Given the description of an element on the screen output the (x, y) to click on. 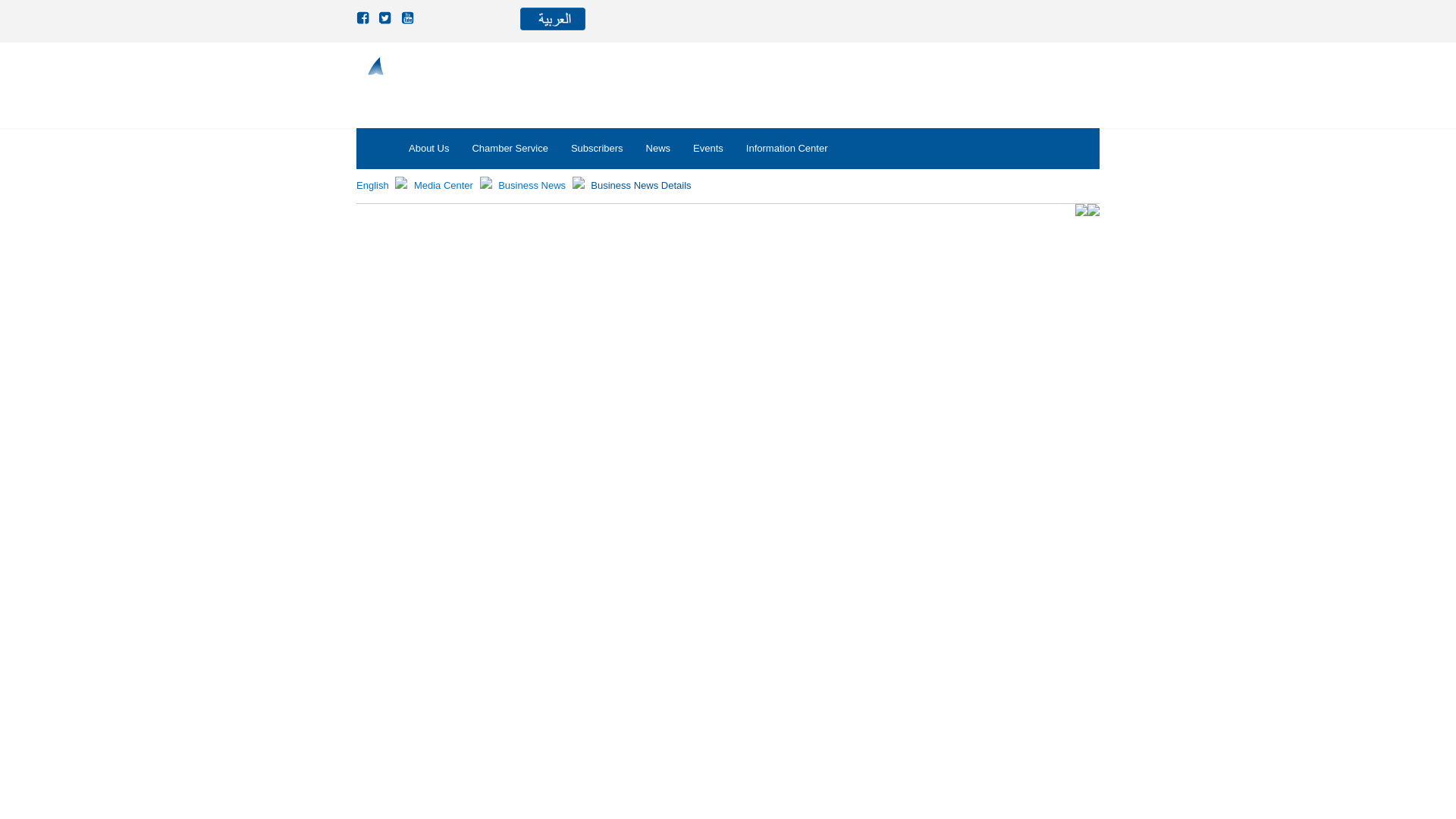
Home (372, 184)
News (658, 147)
Subscribers (596, 147)
facebook (363, 18)
Youtube (408, 18)
Chamber Service (509, 147)
Twitter (386, 18)
About Us (428, 147)
Events (708, 147)
